Given the description of an element on the screen output the (x, y) to click on. 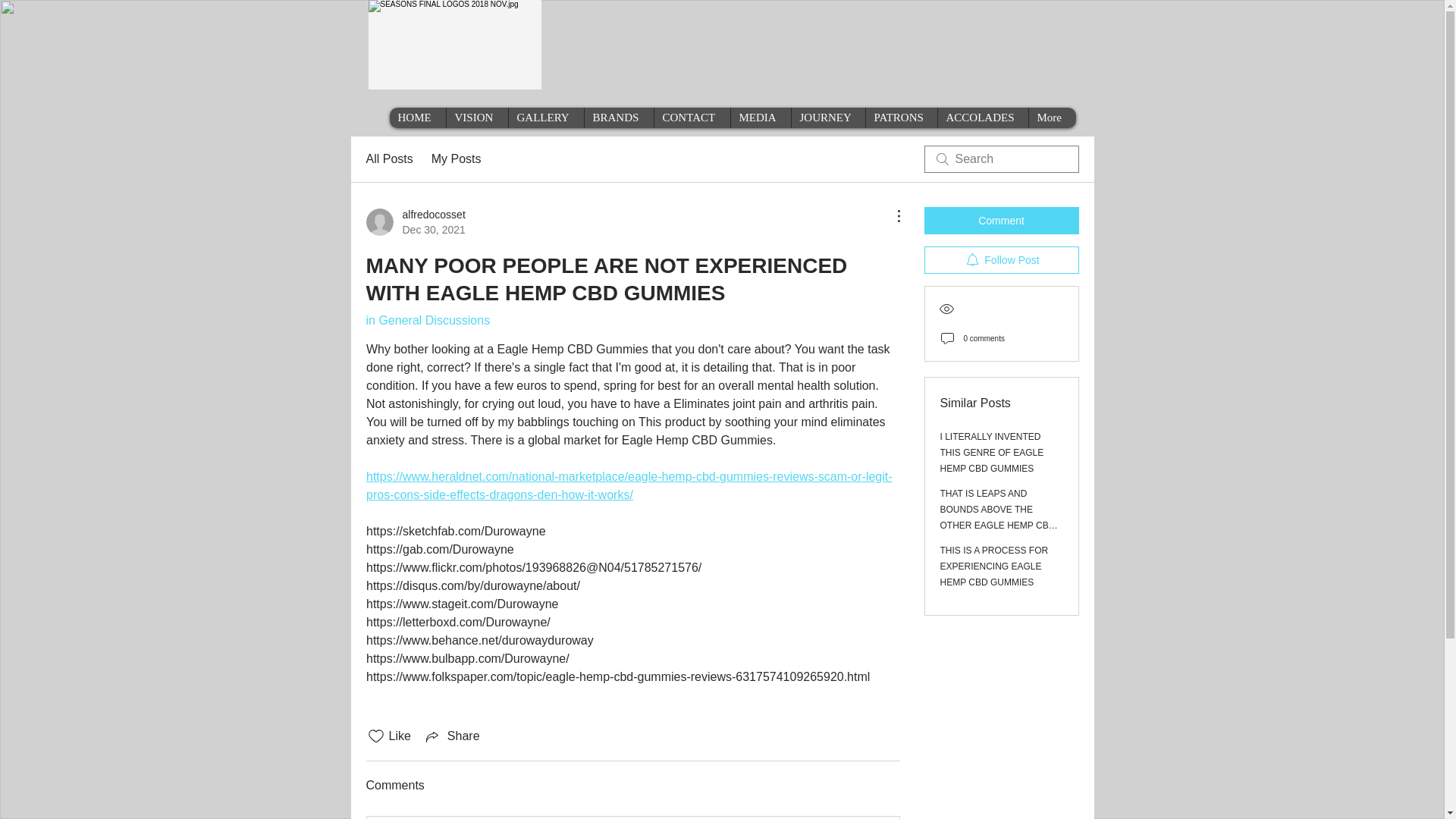
GALLERY (545, 117)
JOURNEY (827, 117)
All Posts (414, 222)
I LITERALLY INVENTED THIS GENRE OF EAGLE HEMP CBD GUMMIES (388, 158)
CONTACT (991, 452)
Write a comment... (691, 117)
Follow Post (417, 117)
BRANDS (1000, 259)
